Given the description of an element on the screen output the (x, y) to click on. 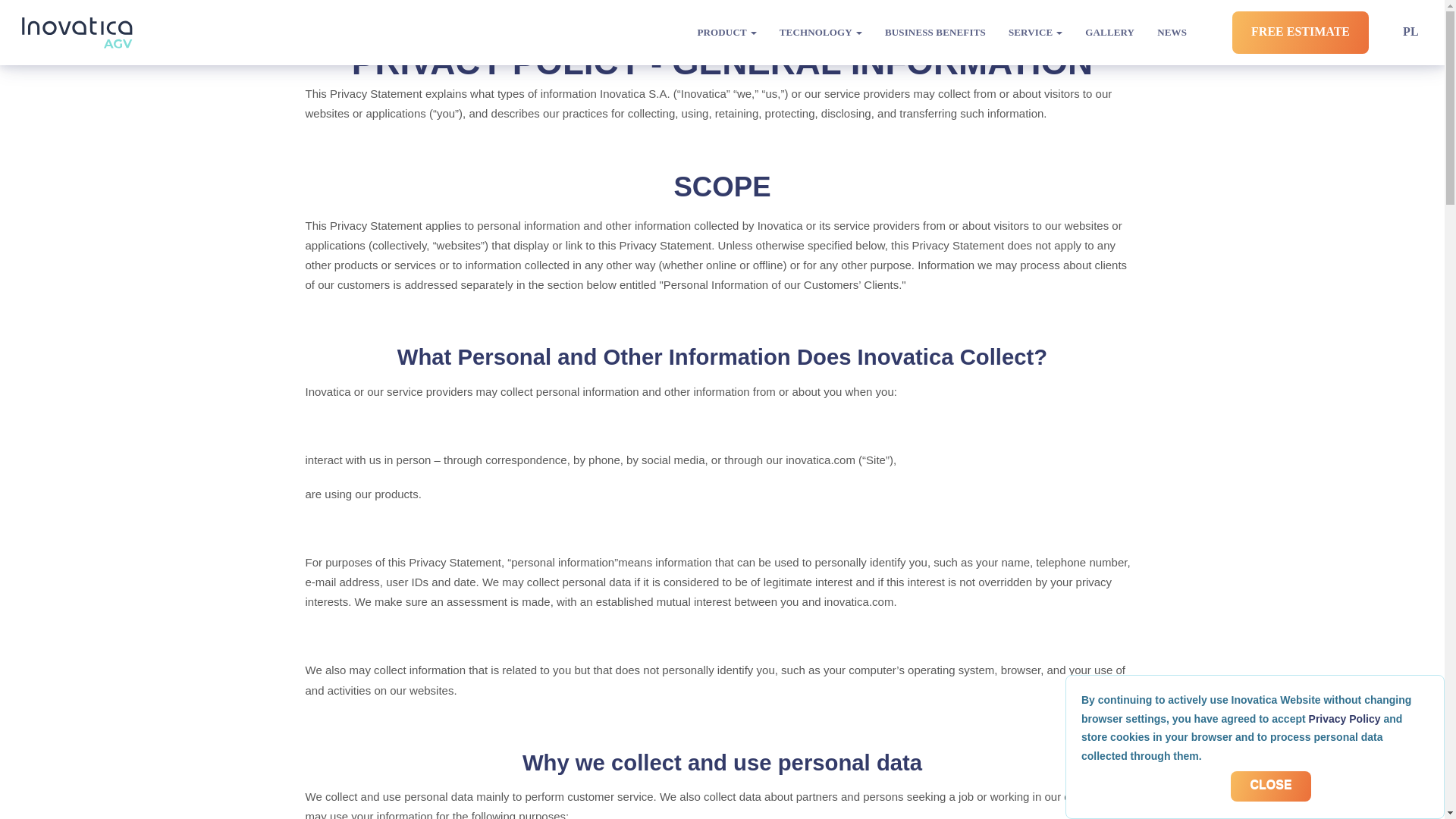
CLOSE (1270, 786)
FREE ESTIMATE (1299, 31)
TECHNOLOGY (819, 31)
PRODUCT (726, 31)
Close (1270, 786)
GALLERY (1109, 31)
NEWS (1171, 31)
Privacy Policy (1344, 718)
BUSINESS BENEFITS (935, 31)
PL (1410, 31)
